Given the description of an element on the screen output the (x, y) to click on. 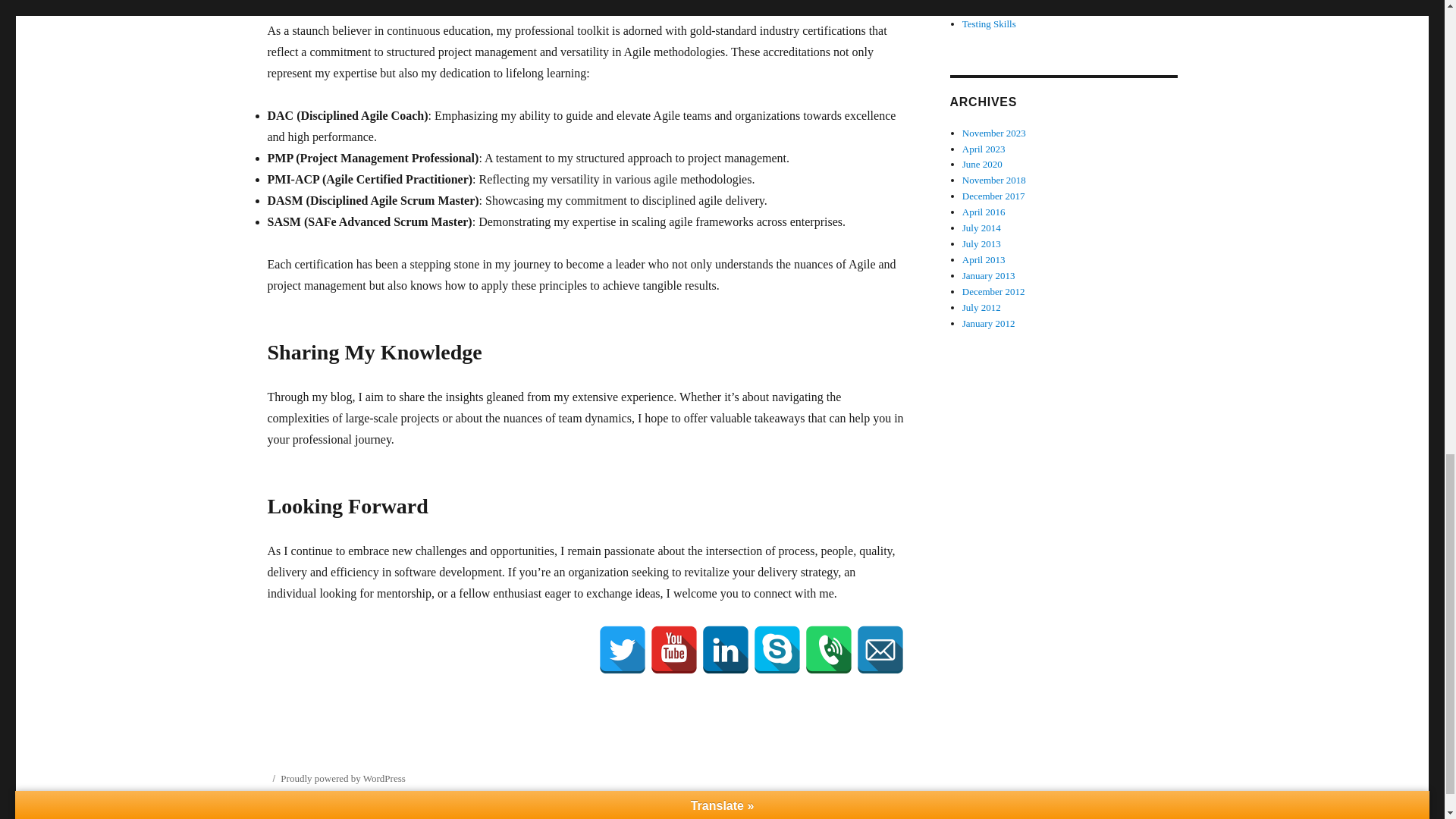
LinkedIn (724, 649)
Email (880, 649)
Twitter (621, 649)
Telephone (827, 649)
Test Management (997, 7)
YouTube (673, 649)
Skype (776, 649)
